Given the description of an element on the screen output the (x, y) to click on. 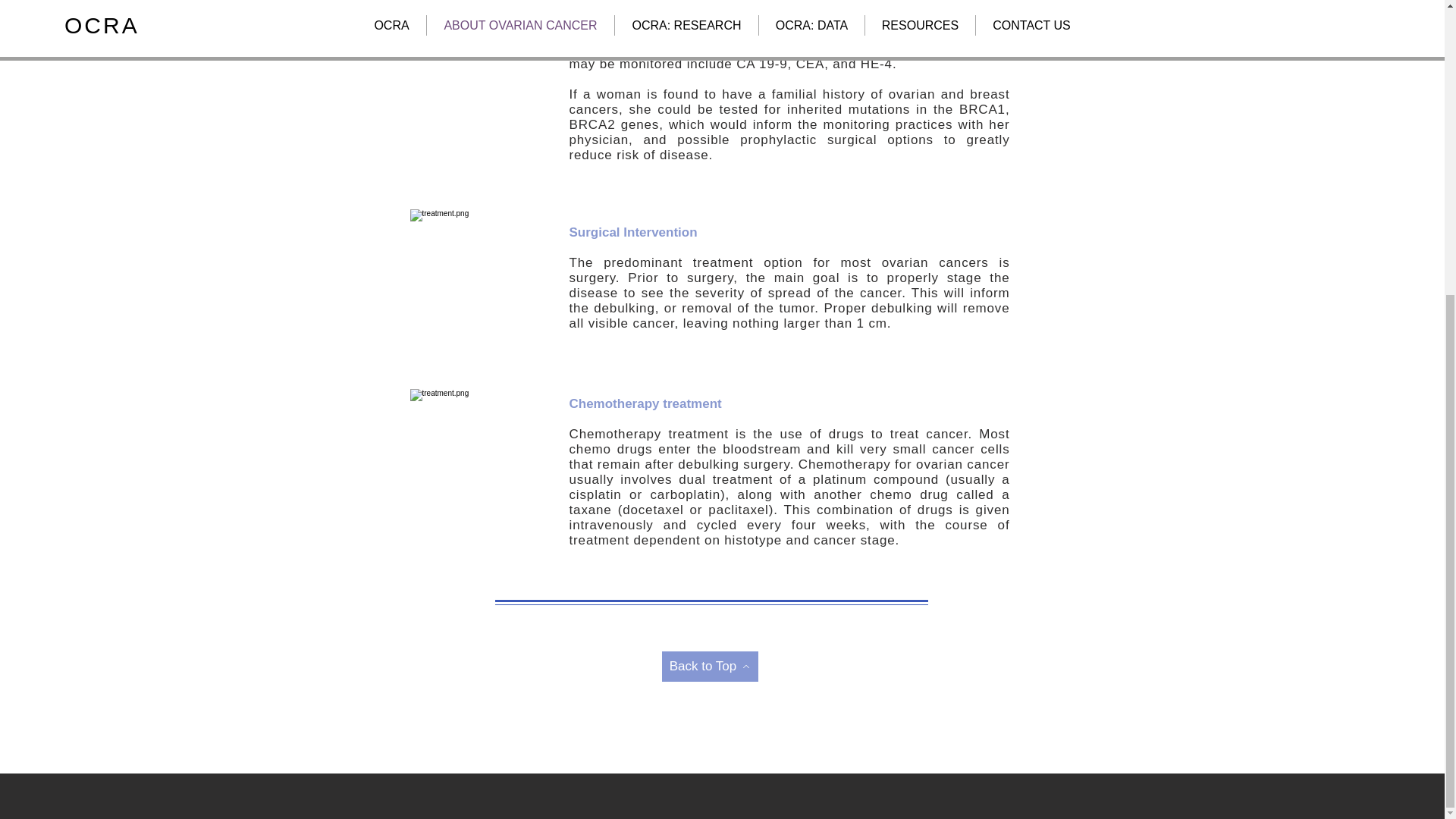
Back to Top (709, 666)
